Given the description of an element on the screen output the (x, y) to click on. 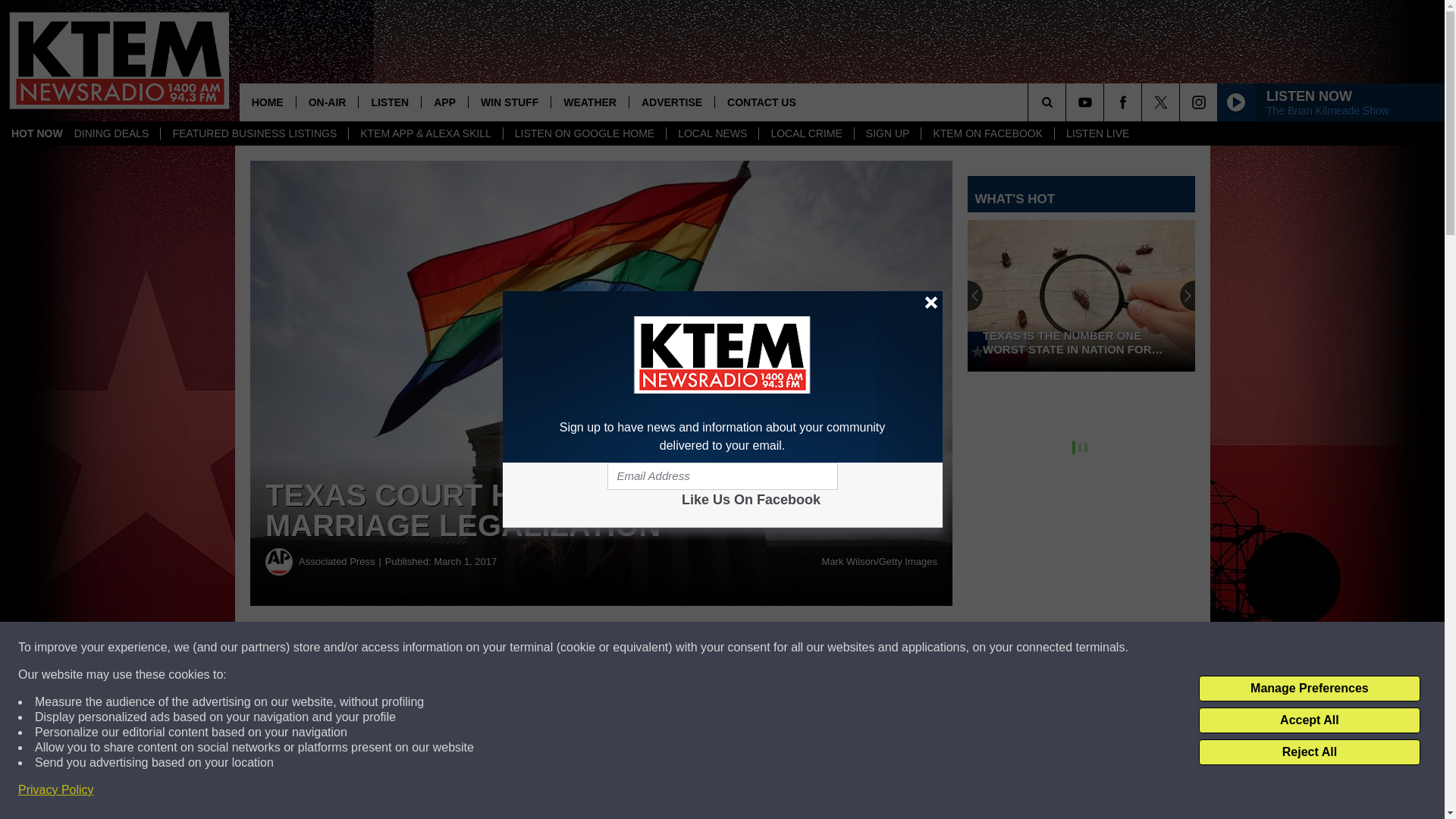
LISTEN (389, 102)
SEARCH (1068, 102)
Share on Twitter (741, 647)
SEARCH (1068, 102)
Accept All (1309, 720)
Share on Facebook (460, 647)
CONTACT US (761, 102)
WEATHER (589, 102)
WIN STUFF (508, 102)
Privacy Policy (55, 789)
APP (443, 102)
LISTEN ON GOOGLE HOME (583, 133)
LISTEN LIVE (1097, 133)
LOCAL CRIME (805, 133)
Email Address (722, 475)
